Given the description of an element on the screen output the (x, y) to click on. 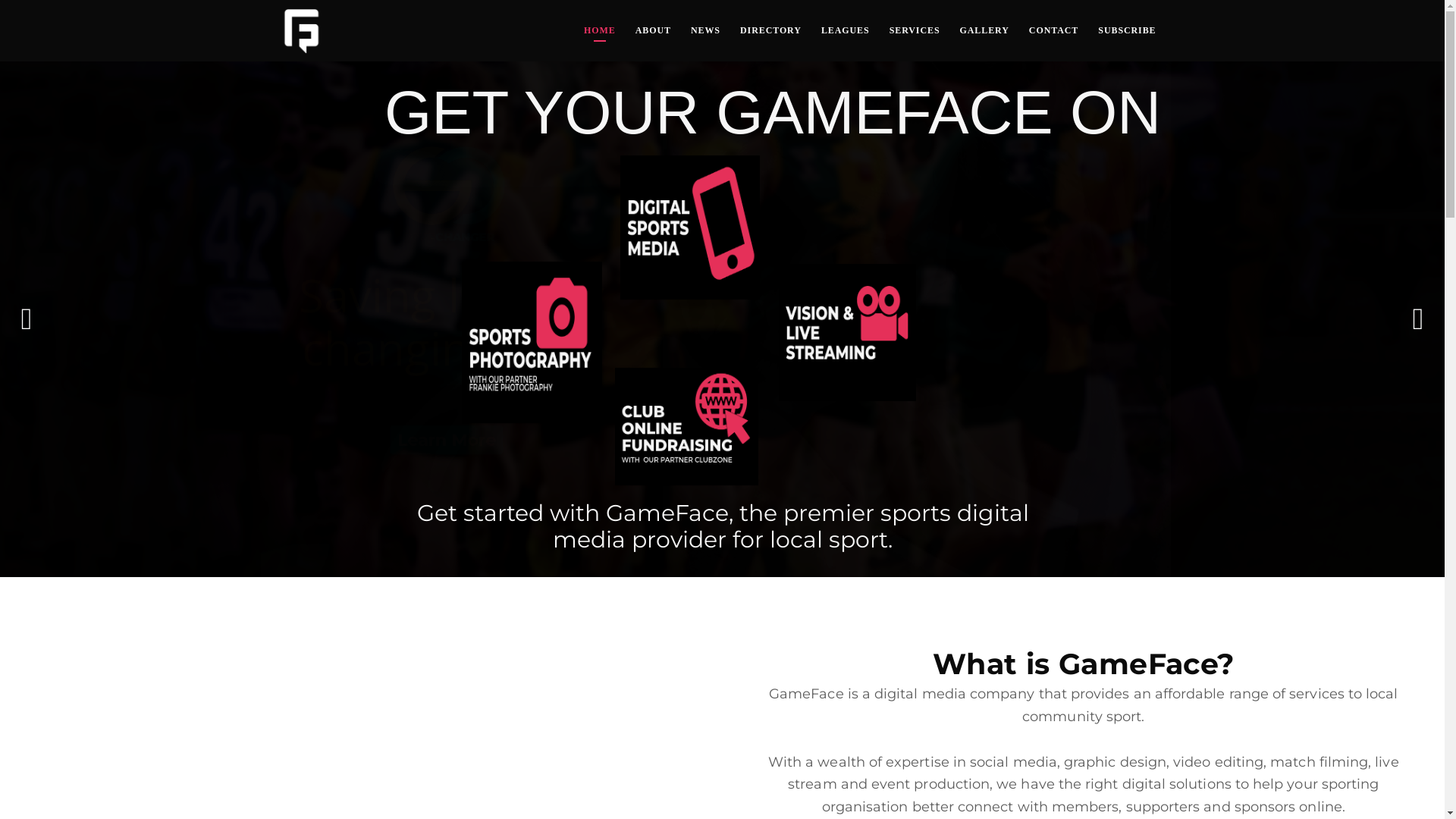
SUBSCRIBE Element type: text (1126, 30)
SERVICES Element type: text (914, 30)
ABOUT Element type: text (652, 30)
CONTACT Element type: text (1053, 30)
HOME Element type: text (599, 30)
GALLERY Element type: text (984, 30)
DIRECTORY Element type: text (770, 30)
LEAGUES Element type: text (845, 30)
NEWS Element type: text (705, 30)
